Given the description of an element on the screen output the (x, y) to click on. 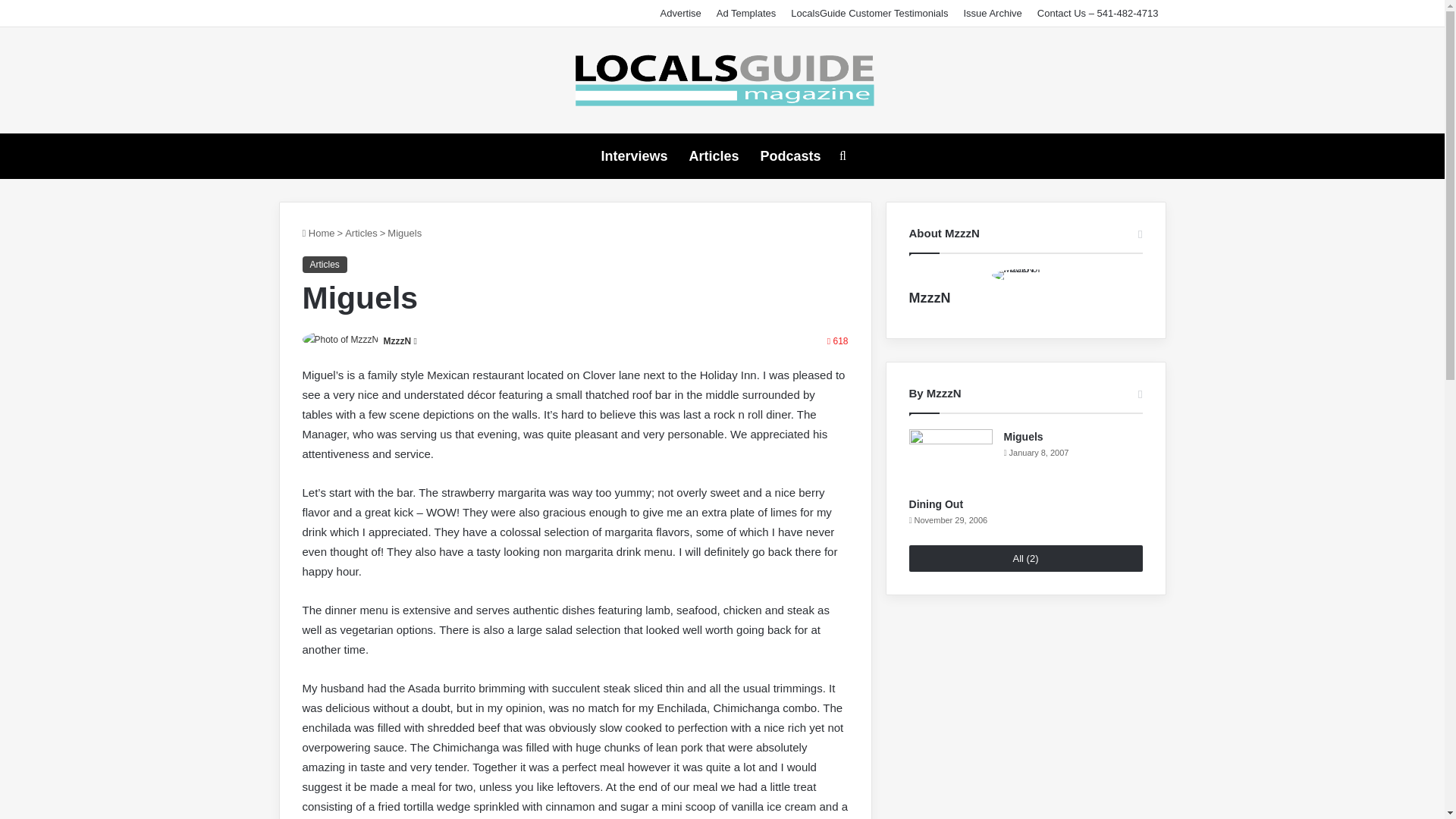
Dining Out (935, 503)
Articles (323, 264)
Home (317, 233)
Articles (713, 156)
MzzzN (398, 340)
Ad Templates (746, 13)
Advertise (680, 13)
MzzzN (398, 340)
Ashland, Oregon - LocalsGuide (721, 79)
Podcasts (790, 156)
Miguels (1023, 436)
LocalsGuide Customer Testimonials (869, 13)
Issue Archive (992, 13)
Interviews (633, 156)
MzzzN (929, 297)
